Given the description of an element on the screen output the (x, y) to click on. 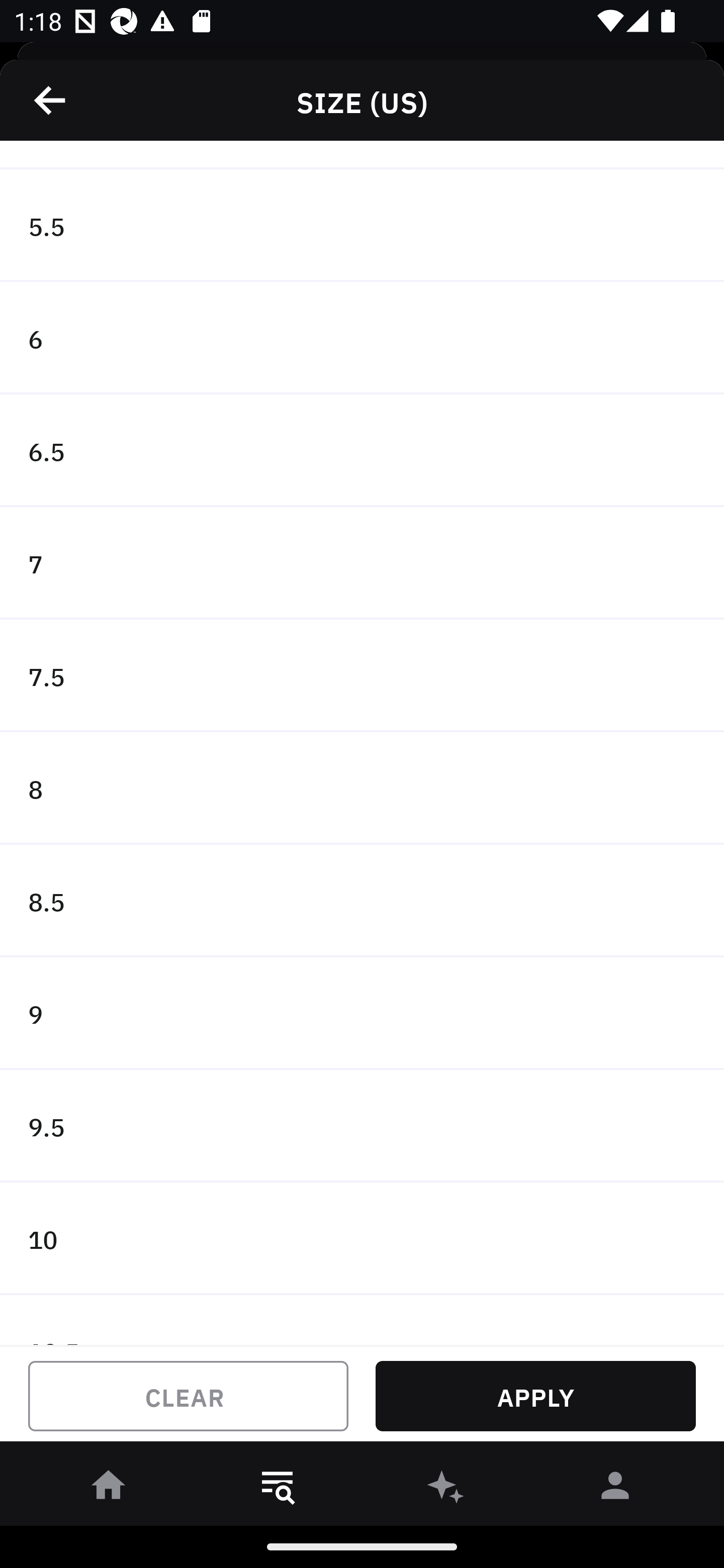
 (50, 100)
5.5 (362, 225)
6 (362, 338)
6.5 (362, 450)
7 (362, 562)
7.5 (362, 675)
8 (362, 788)
8.5 (362, 901)
9 (362, 1013)
9.5 (362, 1125)
10 (362, 1238)
CLEAR  (188, 1396)
APPLY (535, 1396)
󰋜 (108, 1488)
󱎸 (277, 1488)
󰫢 (446, 1488)
󰀄 (615, 1488)
